Given the description of an element on the screen output the (x, y) to click on. 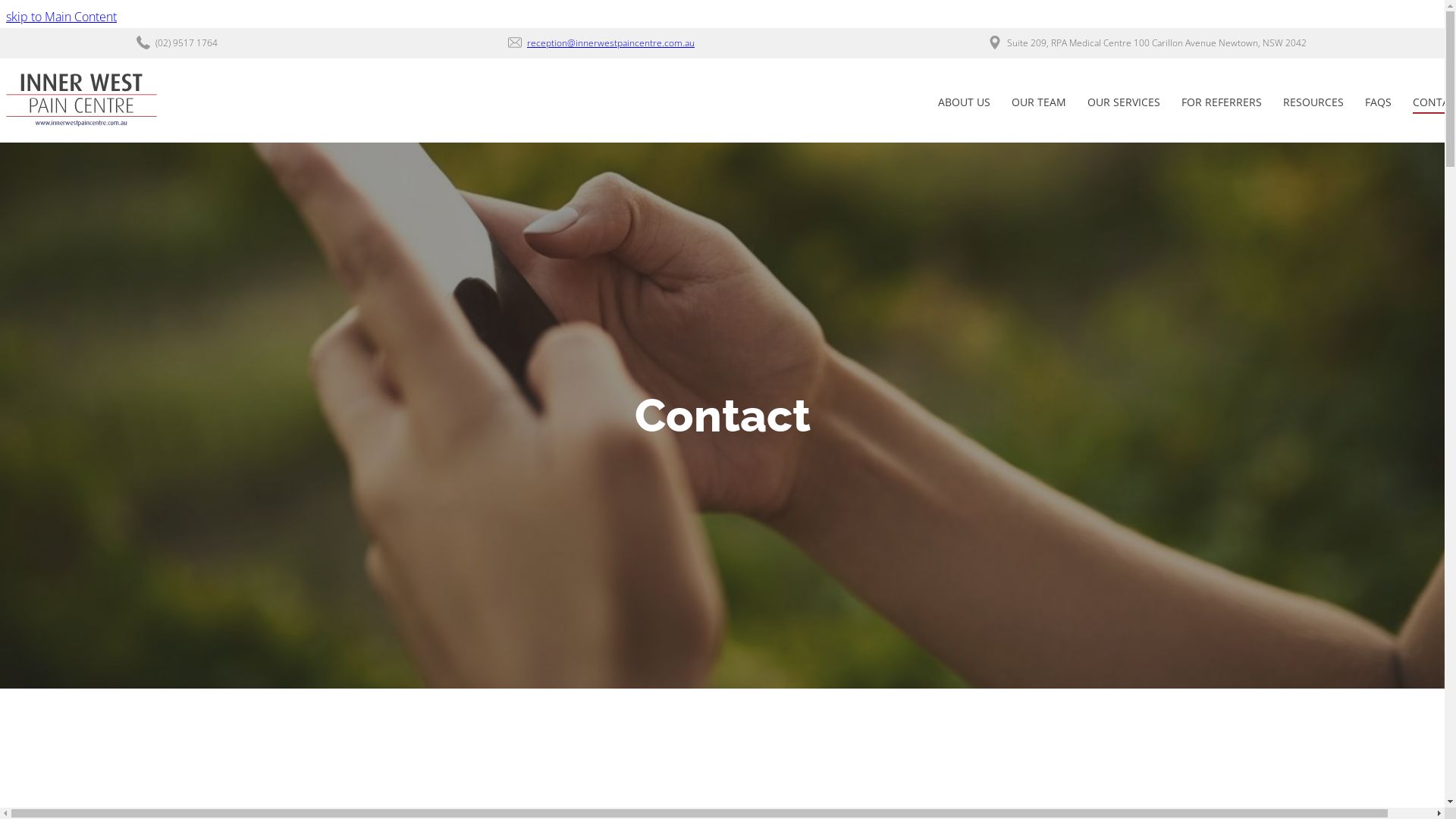
ABOUT US Element type: text (964, 103)
skip to Main Content Element type: text (61, 16)
FAQS Element type: text (1378, 103)
Inner West Pain Centre Element type: text (81, 99)
OUR SERVICES Element type: text (1123, 103)
reception@innerwestpaincentre.com.au Element type: text (610, 42)
RESOURCES Element type: text (1313, 103)
OUR TEAM Element type: text (1038, 103)
FOR REFERRERS Element type: text (1221, 103)
